Given the description of an element on the screen output the (x, y) to click on. 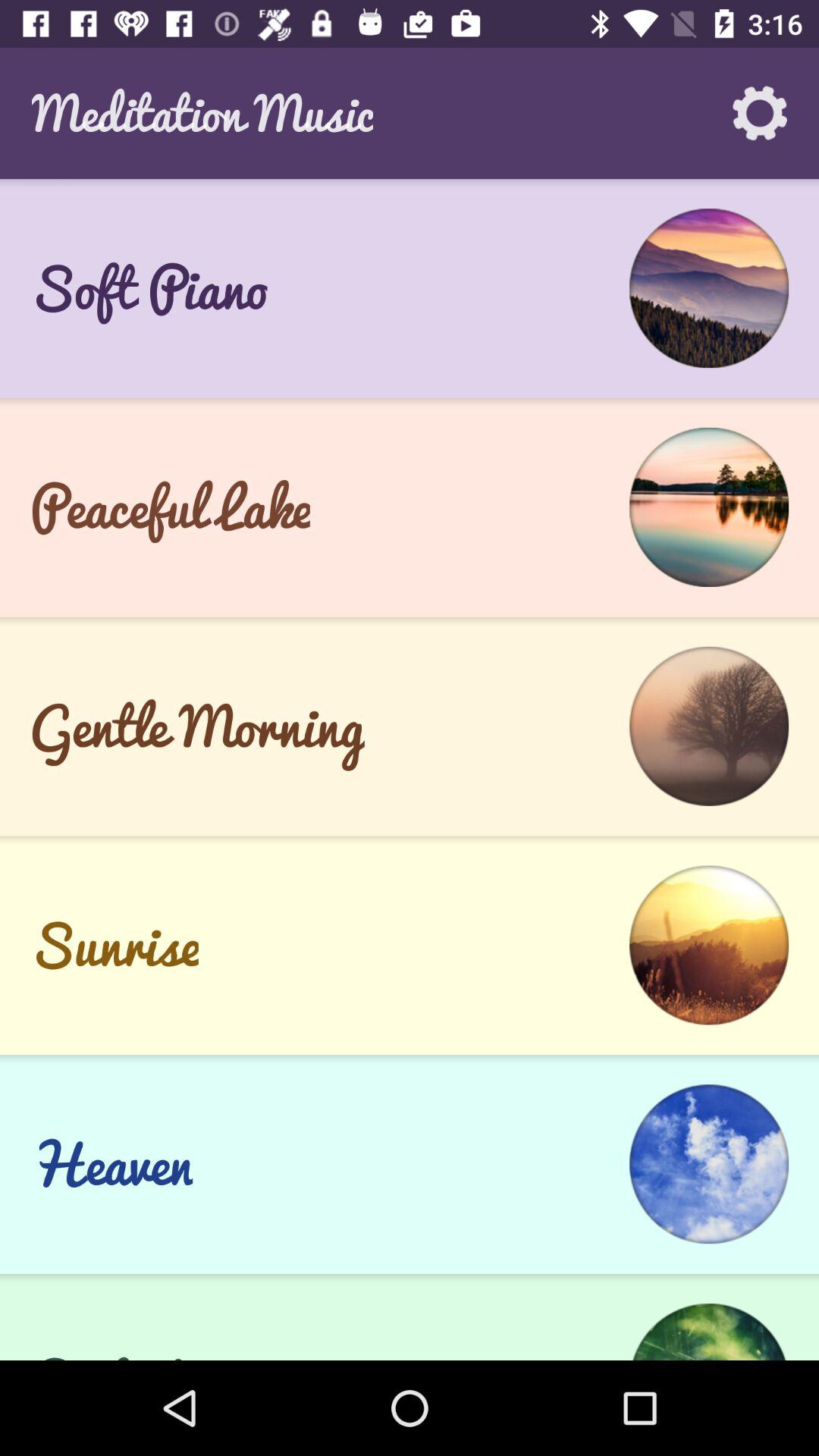
select the peaceful lake item (169, 507)
